Given the description of an element on the screen output the (x, y) to click on. 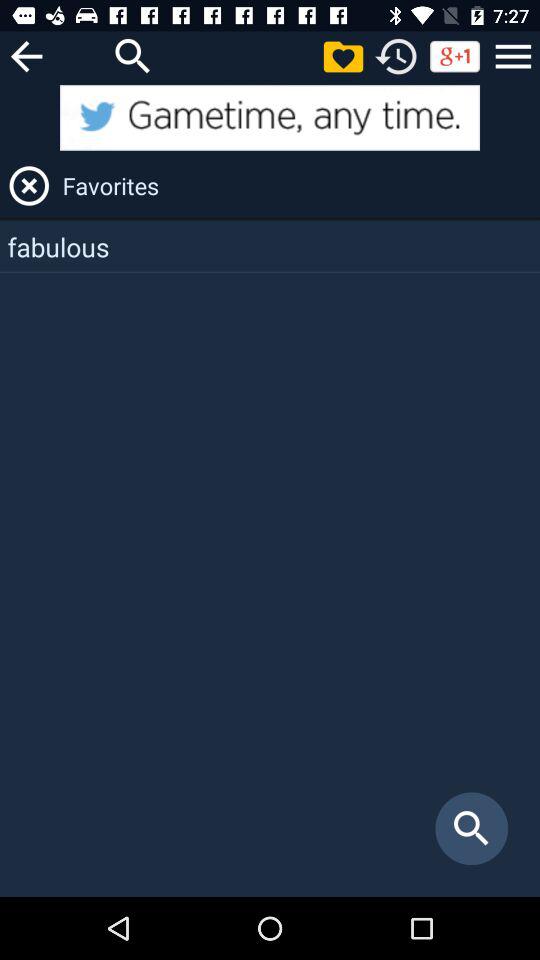
turn off the item below the fabulous (471, 828)
